Given the description of an element on the screen output the (x, y) to click on. 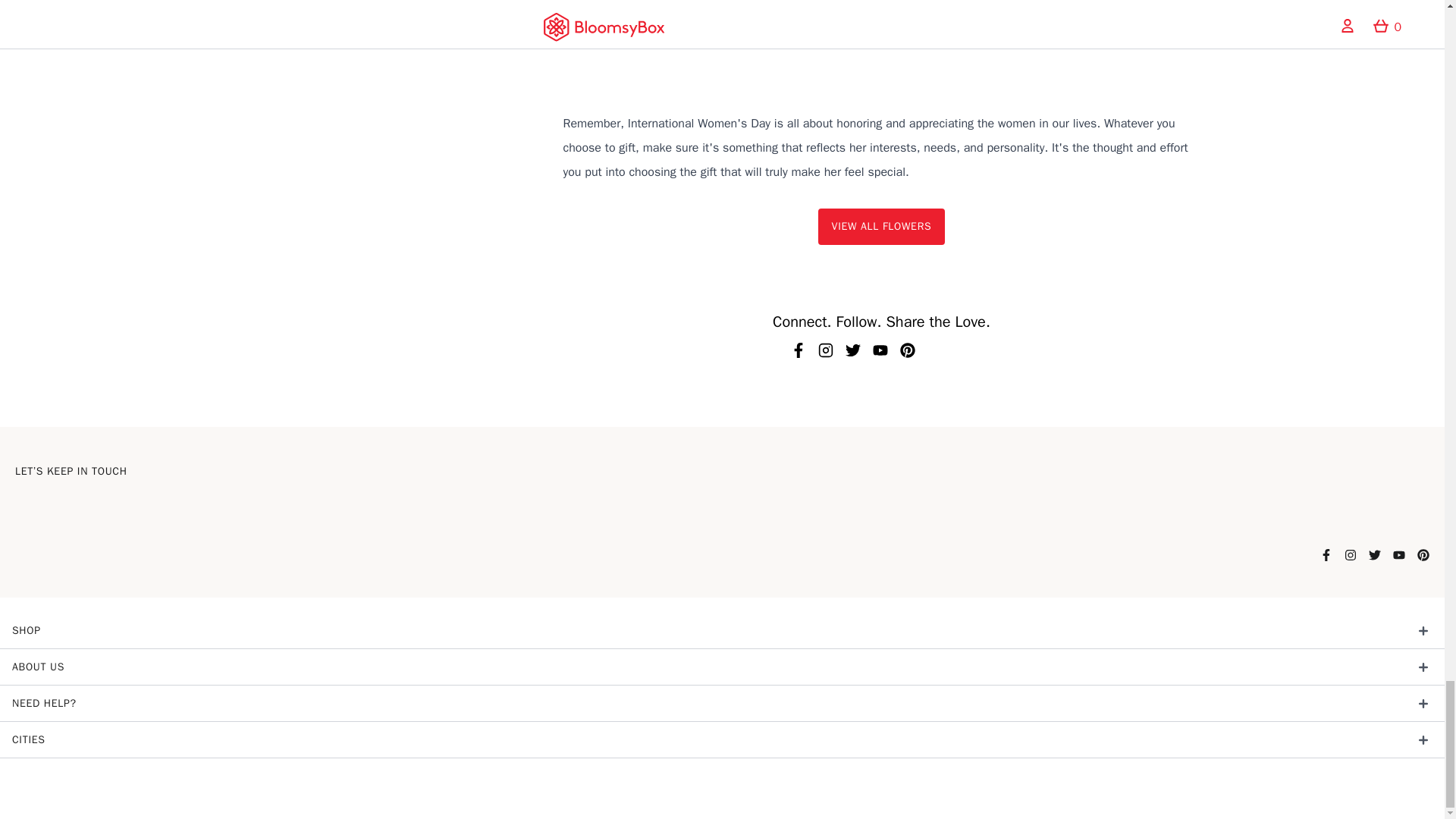
youtube (879, 348)
pinterest (907, 348)
Pinterest (1422, 554)
Facebook (1326, 554)
facebook (798, 348)
Instagram (1349, 554)
twitter (853, 348)
instagram (826, 348)
Twitter (1374, 554)
YouTube (1399, 554)
